Given the description of an element on the screen output the (x, y) to click on. 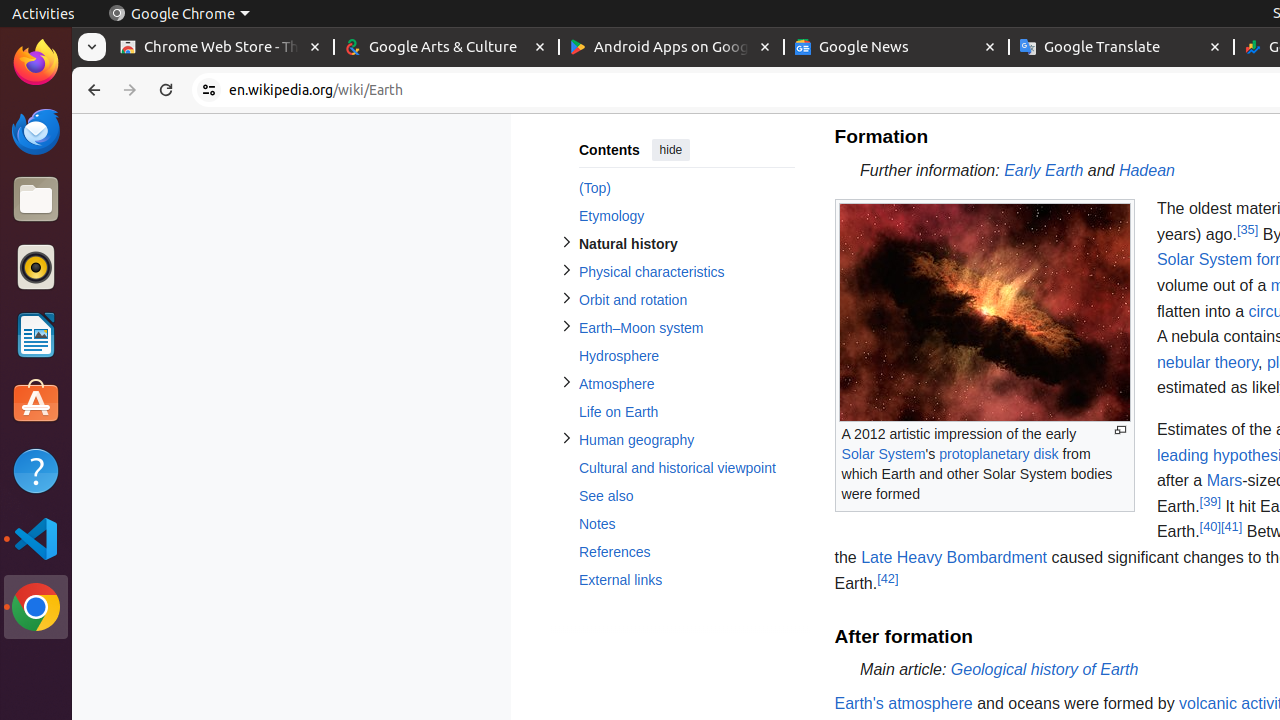
Google Chrome Element type: push-button (36, 607)
Toggle Natural history subsection Element type: push-button (566, 242)
View site information Element type: push-button (209, 90)
See also Element type: link (686, 496)
External links Element type: link (686, 580)
